Given the description of an element on the screen output the (x, y) to click on. 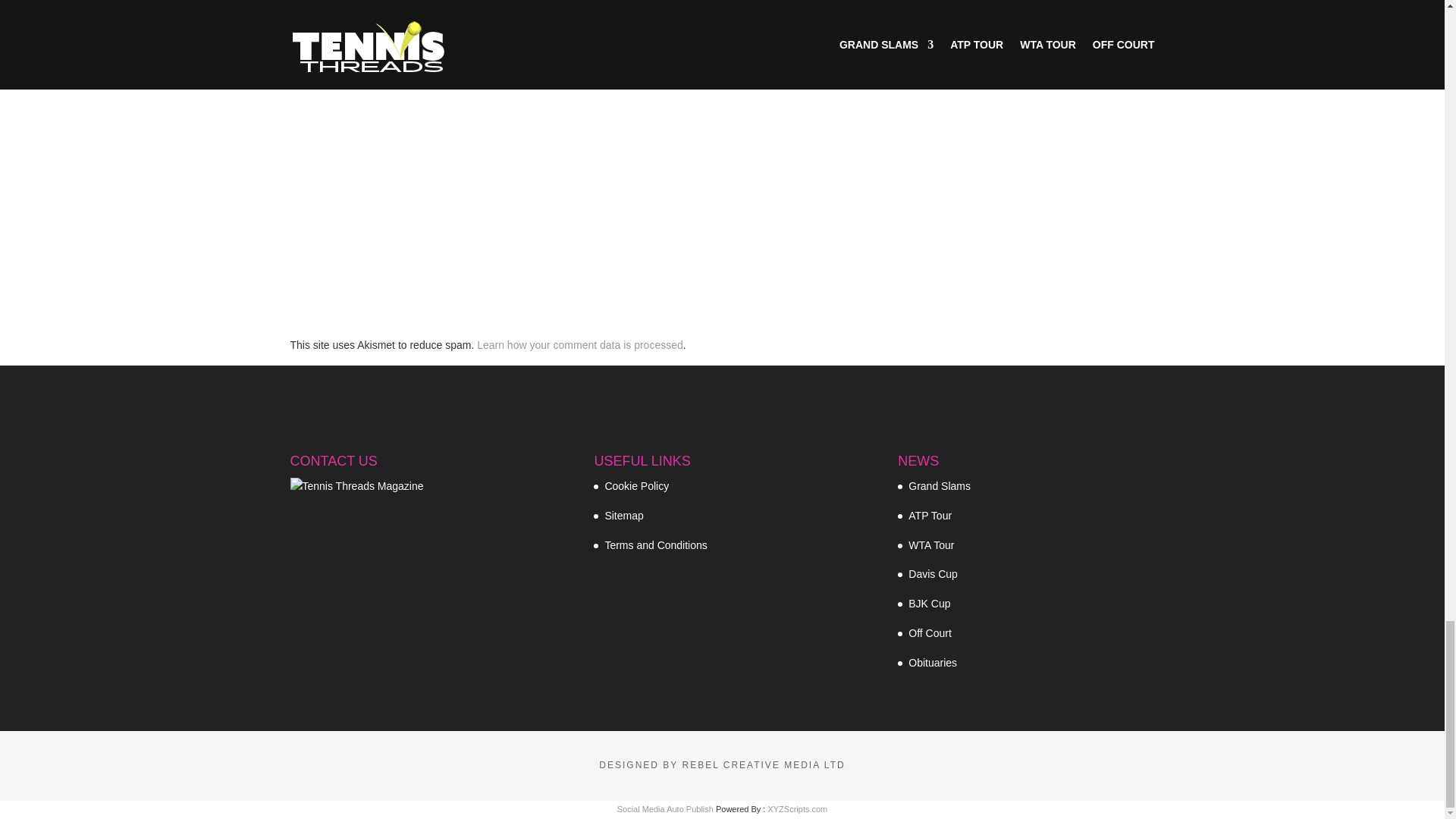
Social Media Auto Publish (665, 809)
Tennis Threads Magazine (356, 486)
